Given the description of an element on the screen output the (x, y) to click on. 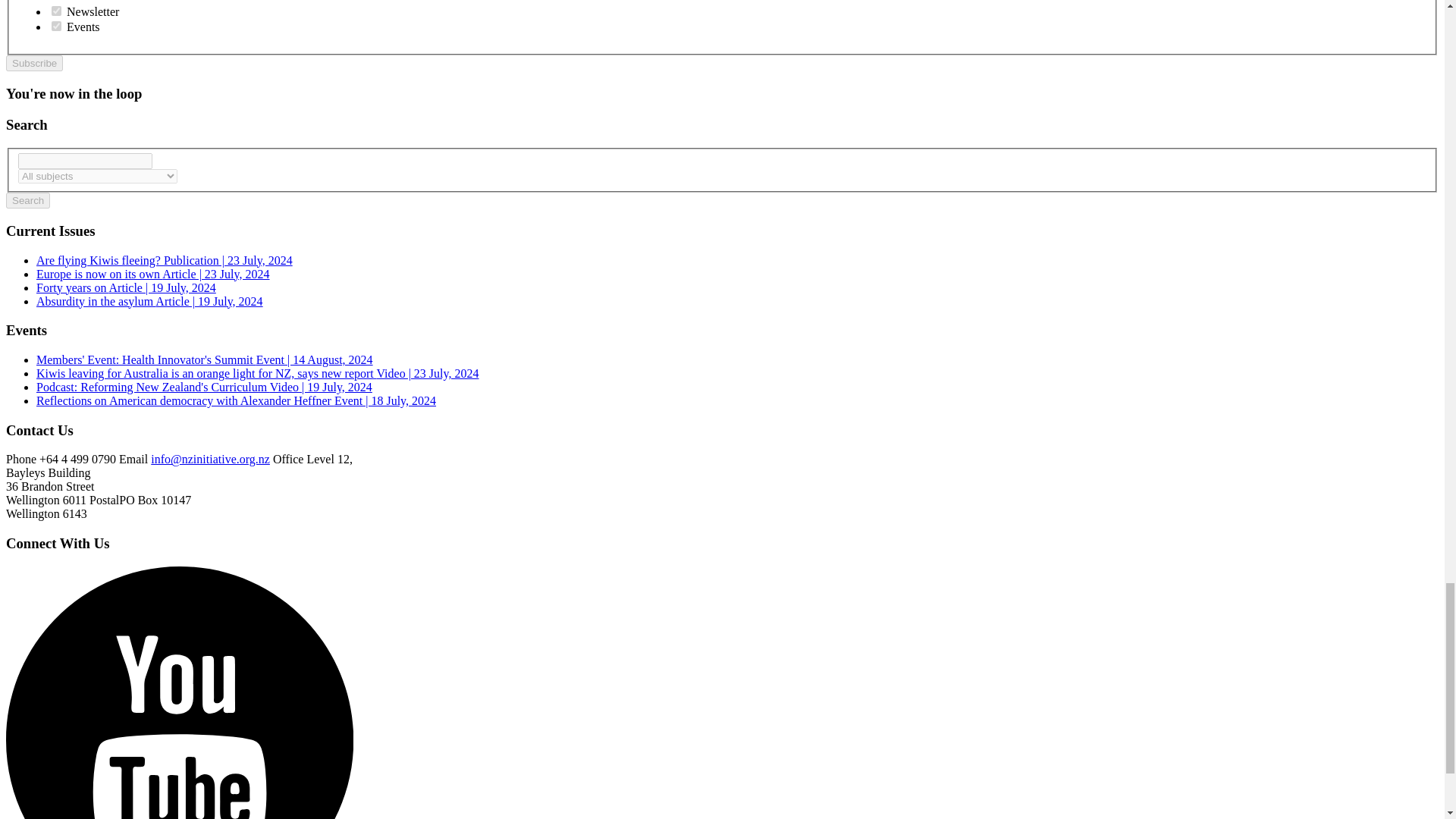
Europe is now on its own (152, 273)
Members' Event: Health Innovator's Summit (204, 359)
Reflections on American democracy with Alexander Heffner (235, 400)
Subscribe (33, 63)
Forty years on (125, 287)
Search (27, 200)
Absurdity in the asylum (149, 300)
Are flying Kiwis fleeing? (164, 259)
Podcast: Reforming New Zealand's Curriculum (204, 386)
